Given the description of an element on the screen output the (x, y) to click on. 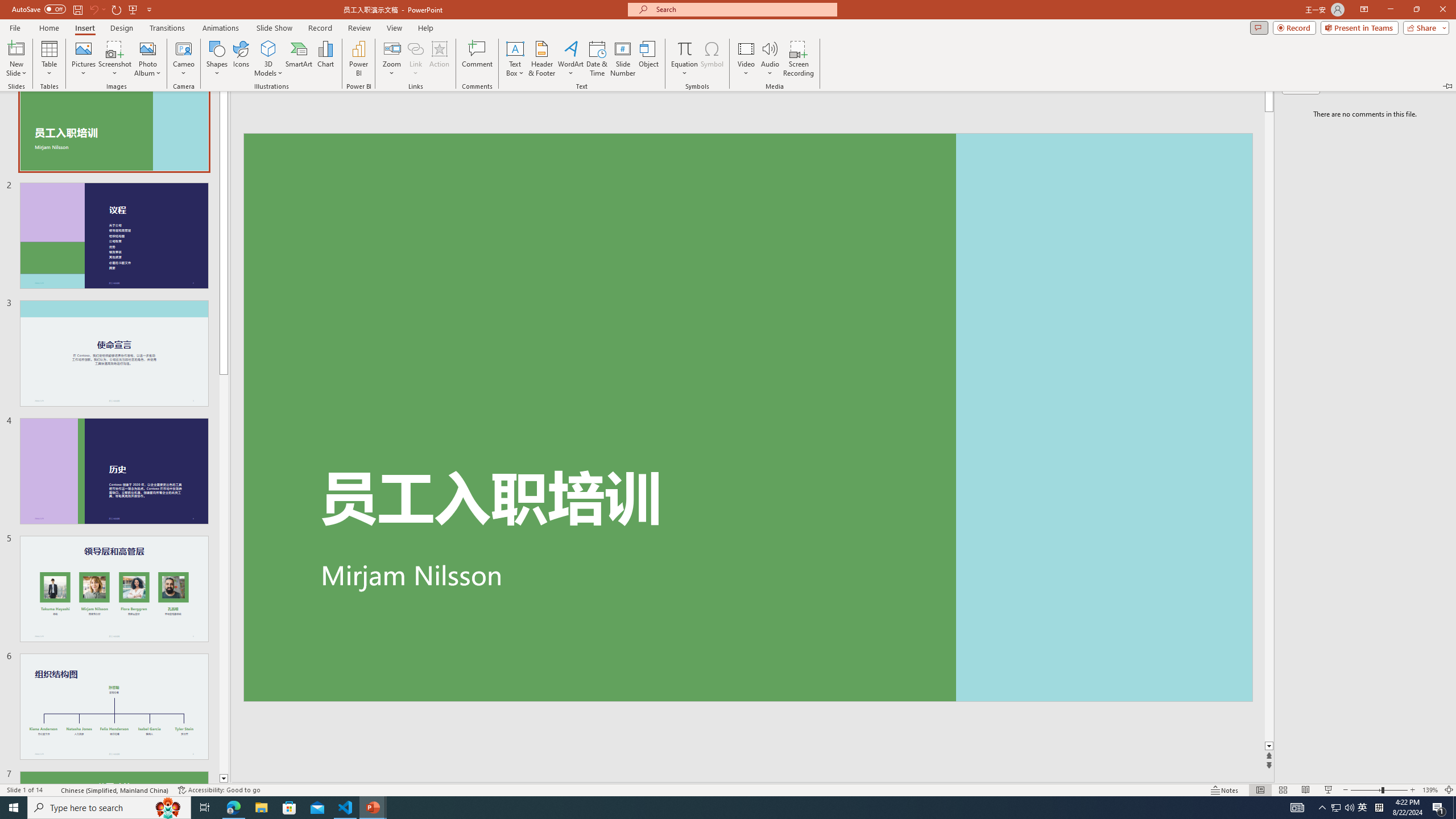
Paragraph... (634, 128)
Heading 2 (972, 91)
Microsoft search (749, 18)
